Given the description of an element on the screen output the (x, y) to click on. 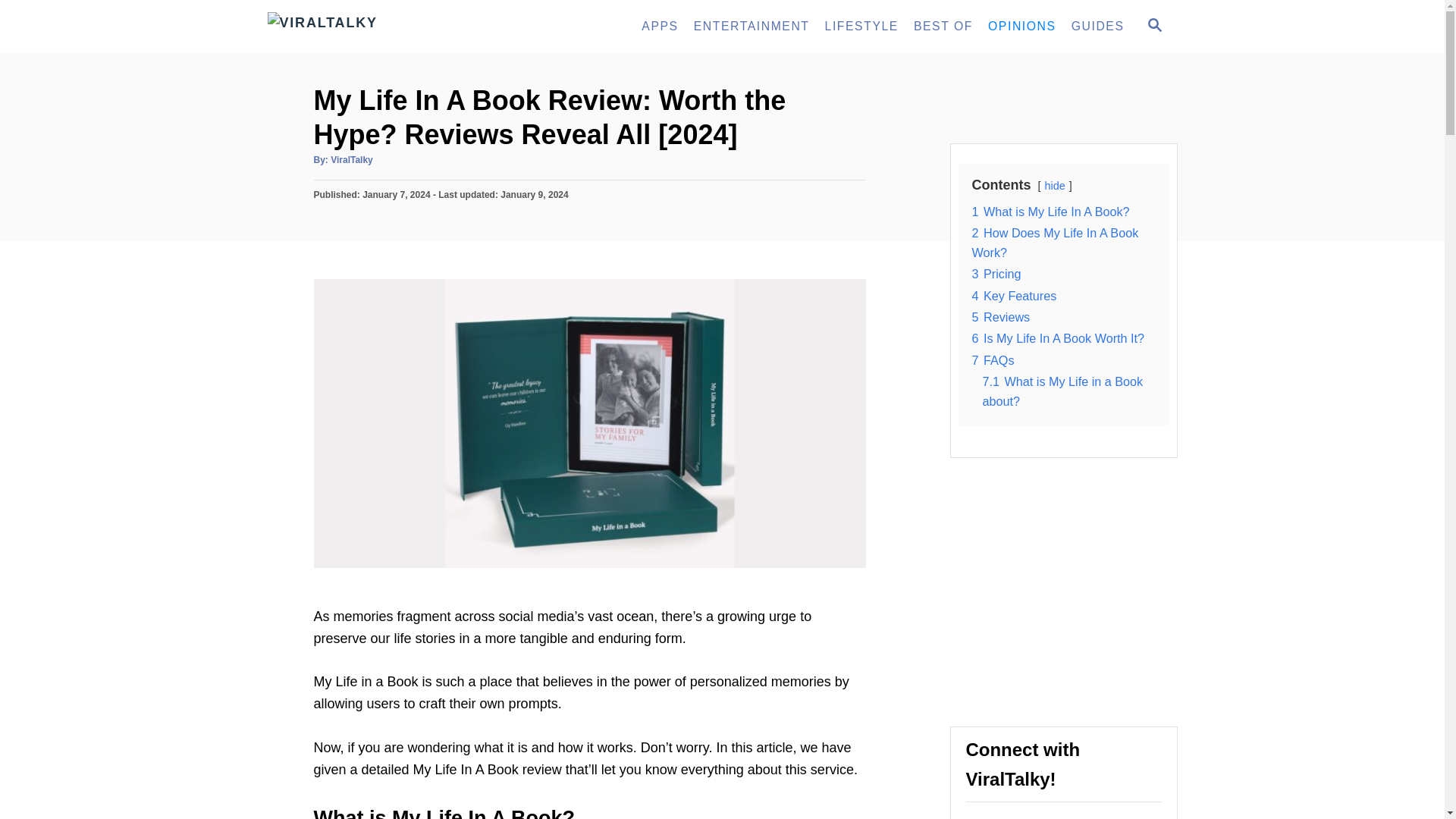
ENTERTAINMENT (750, 26)
APPS (659, 26)
ViralTalky (403, 26)
LIFESTYLE (860, 26)
SEARCH (1153, 26)
BEST OF (942, 26)
hide (1055, 185)
ViralTalky (351, 159)
OPINIONS (1021, 26)
1 What is My Life In A Book? (1050, 211)
GUIDES (1098, 26)
